Given the description of an element on the screen output the (x, y) to click on. 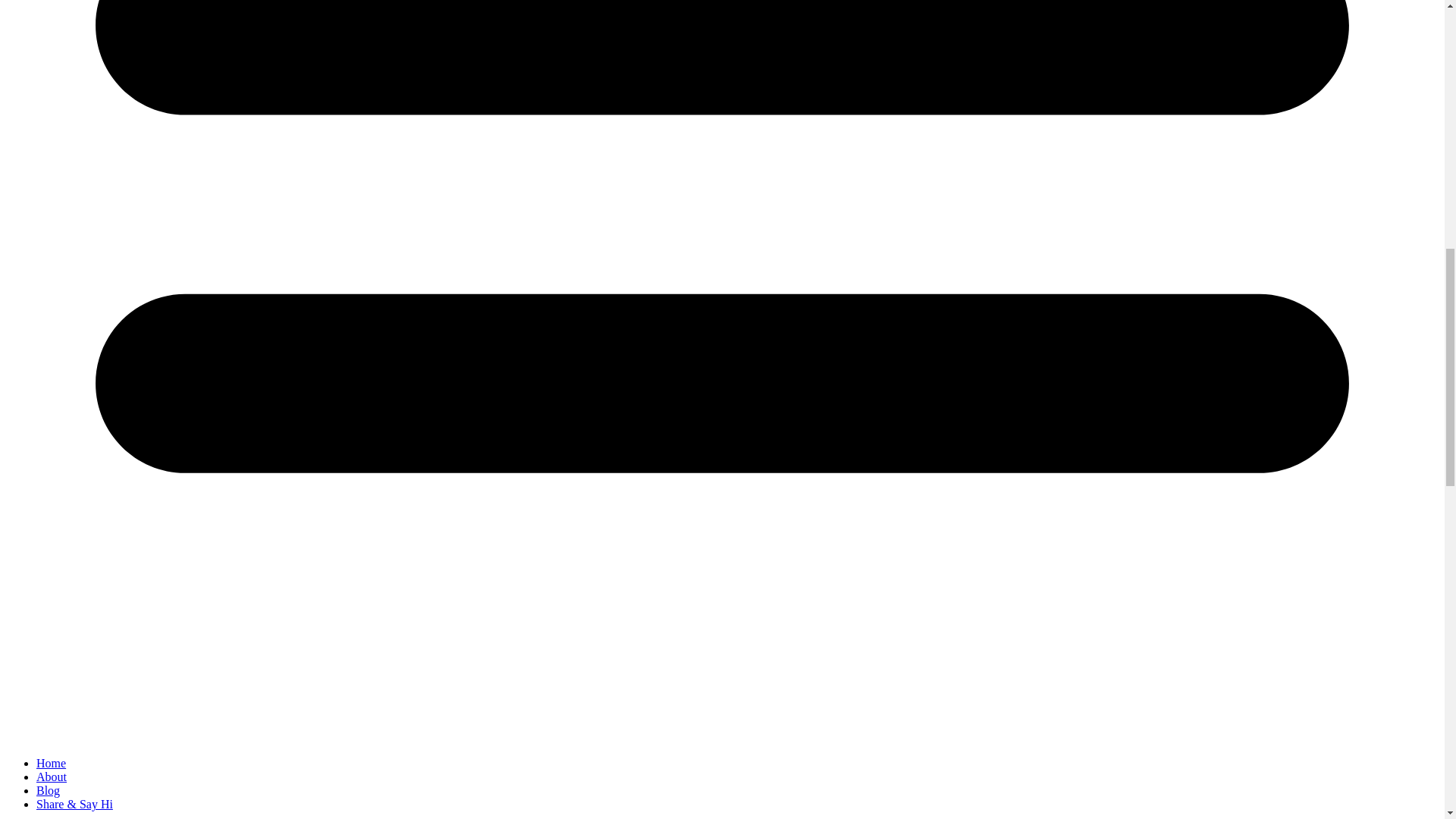
About (51, 776)
Home (50, 762)
Blog (47, 789)
